Given the description of an element on the screen output the (x, y) to click on. 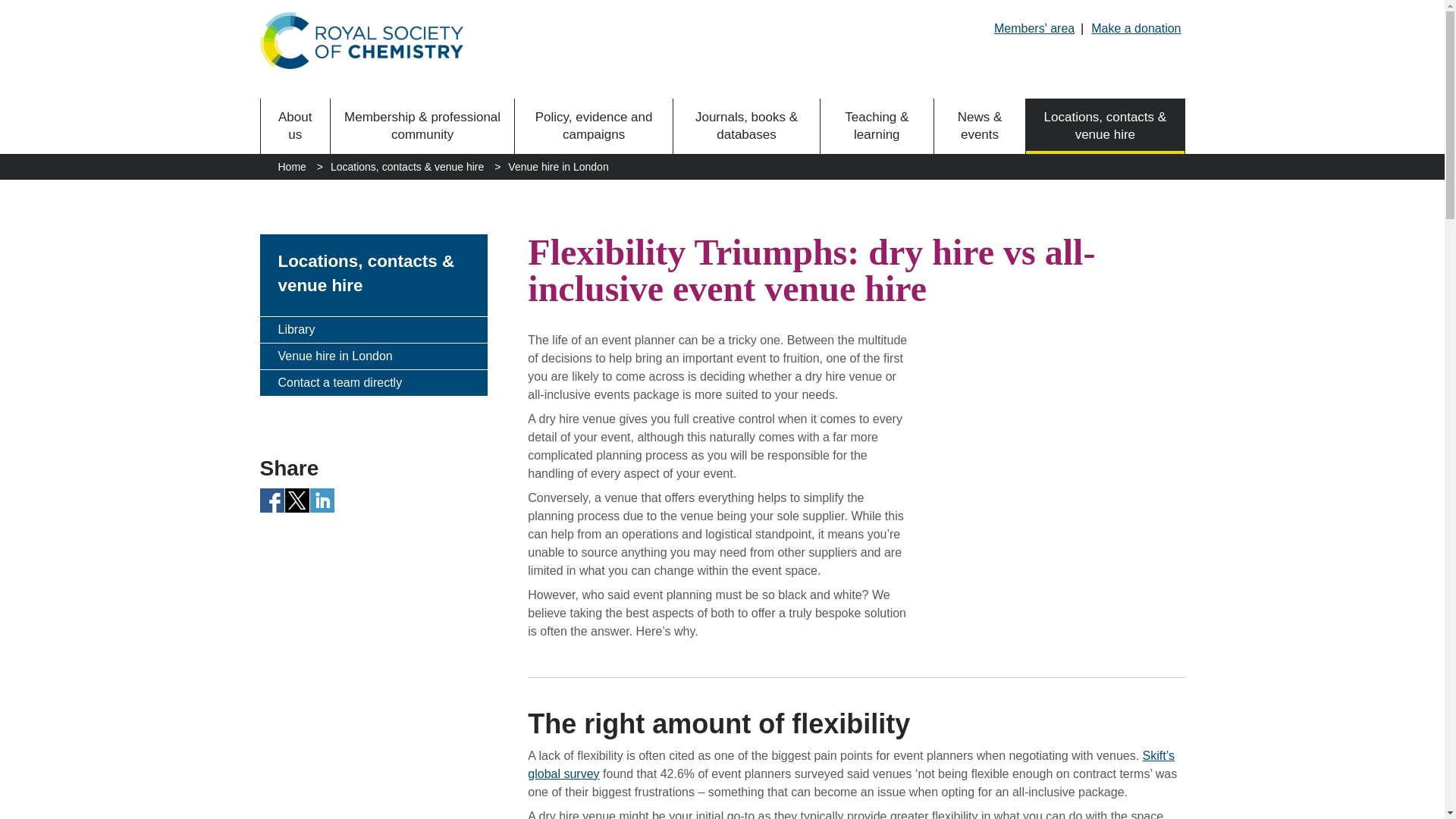
Make a donation (1135, 28)
About us (295, 125)
Contact a team directly (372, 382)
Policy, evidence and campaigns (593, 125)
Library (372, 329)
Venue hire in London (558, 166)
Venue hire in London (372, 356)
Home (291, 166)
Members' area (1034, 28)
FB (271, 500)
Twitter (296, 500)
LinkedIn (322, 500)
Royal Society of Chemistry (361, 40)
